Given the description of an element on the screen output the (x, y) to click on. 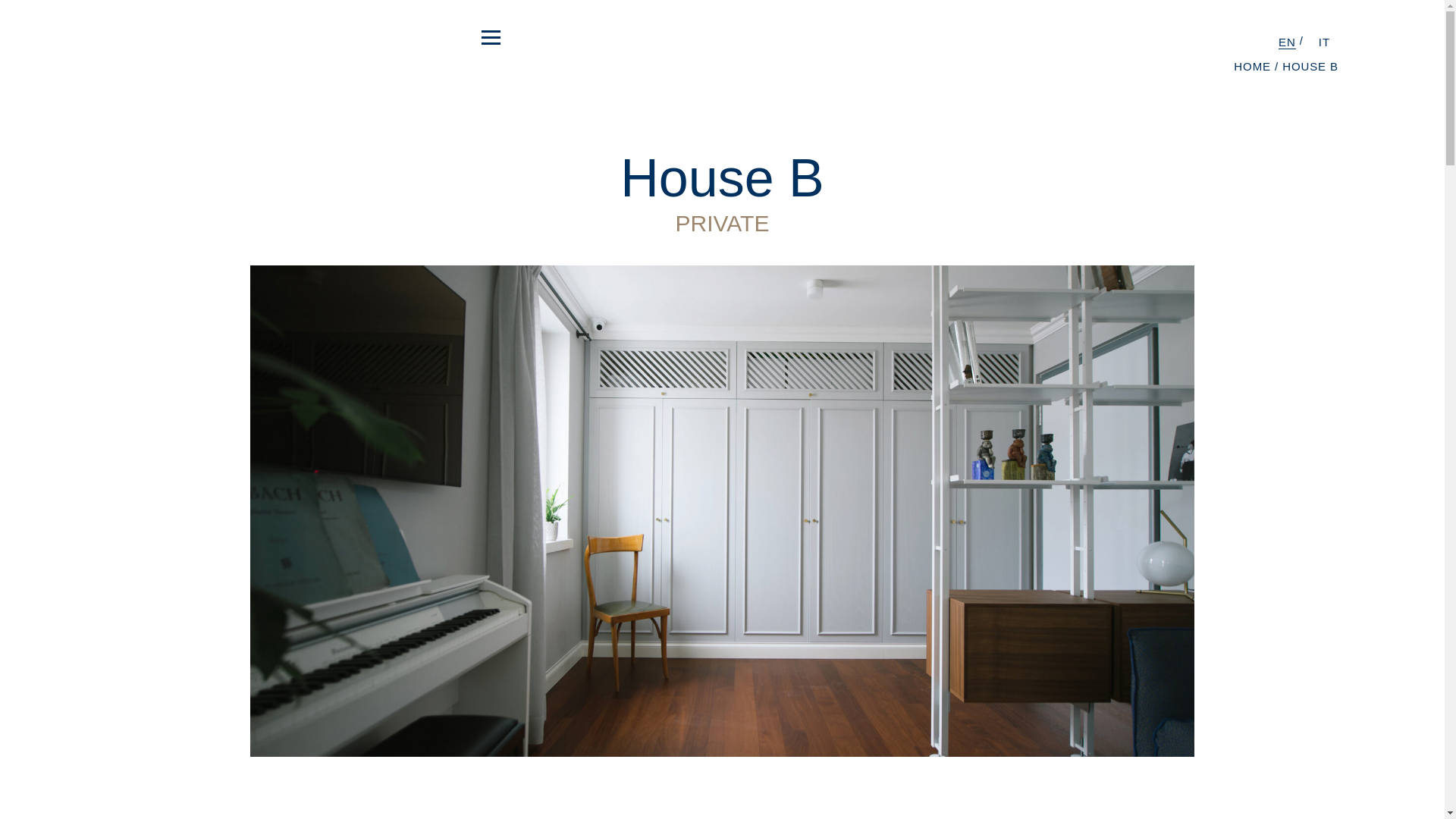
IT (1324, 41)
HOME (1252, 65)
EN (1291, 41)
